Given the description of an element on the screen output the (x, y) to click on. 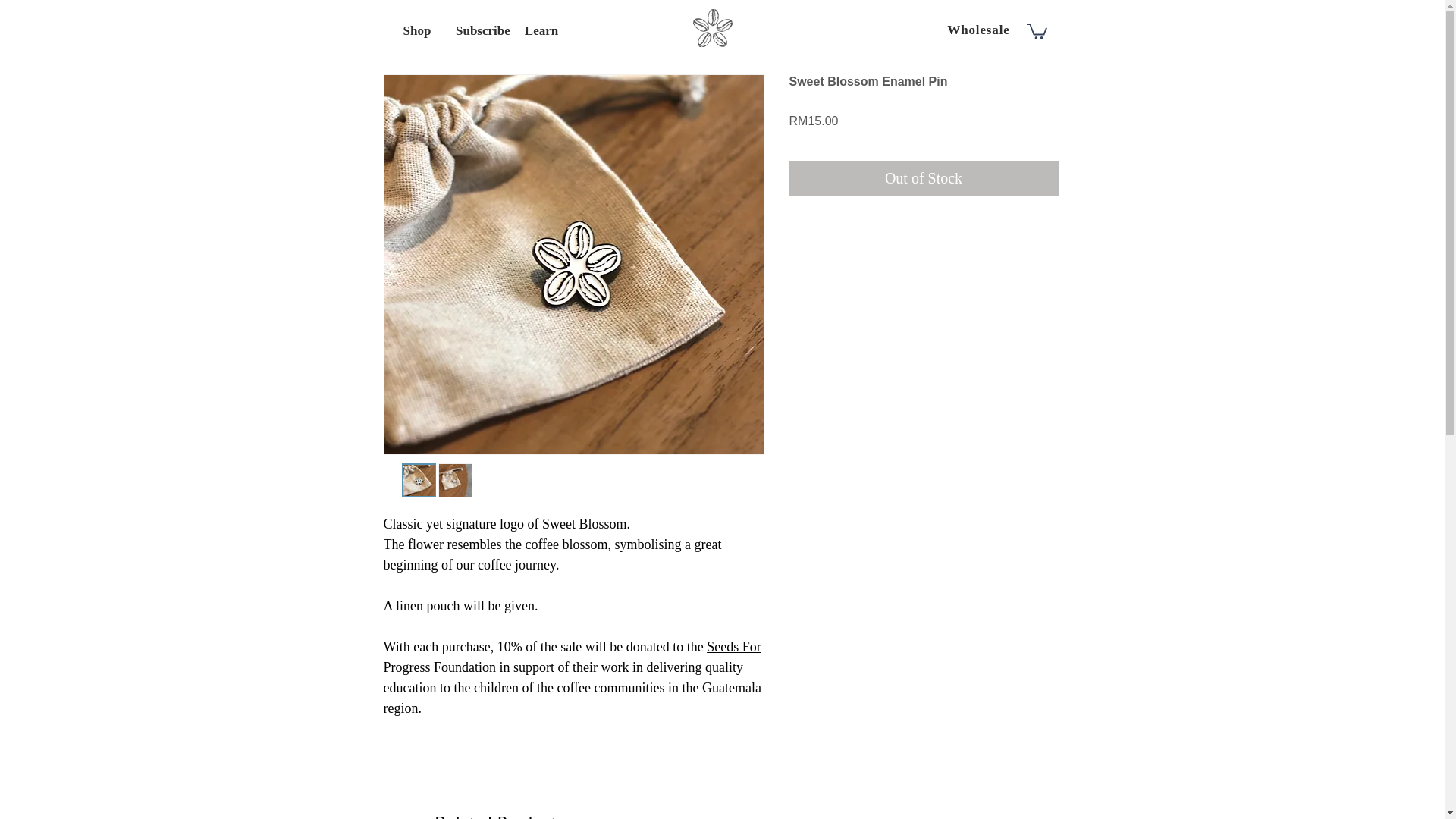
Seeds For Progress Foundation (572, 656)
Learn (541, 30)
Wholesale (980, 30)
Out of Stock (923, 177)
Subscribe (479, 30)
Shop (416, 30)
